Given the description of an element on the screen output the (x, y) to click on. 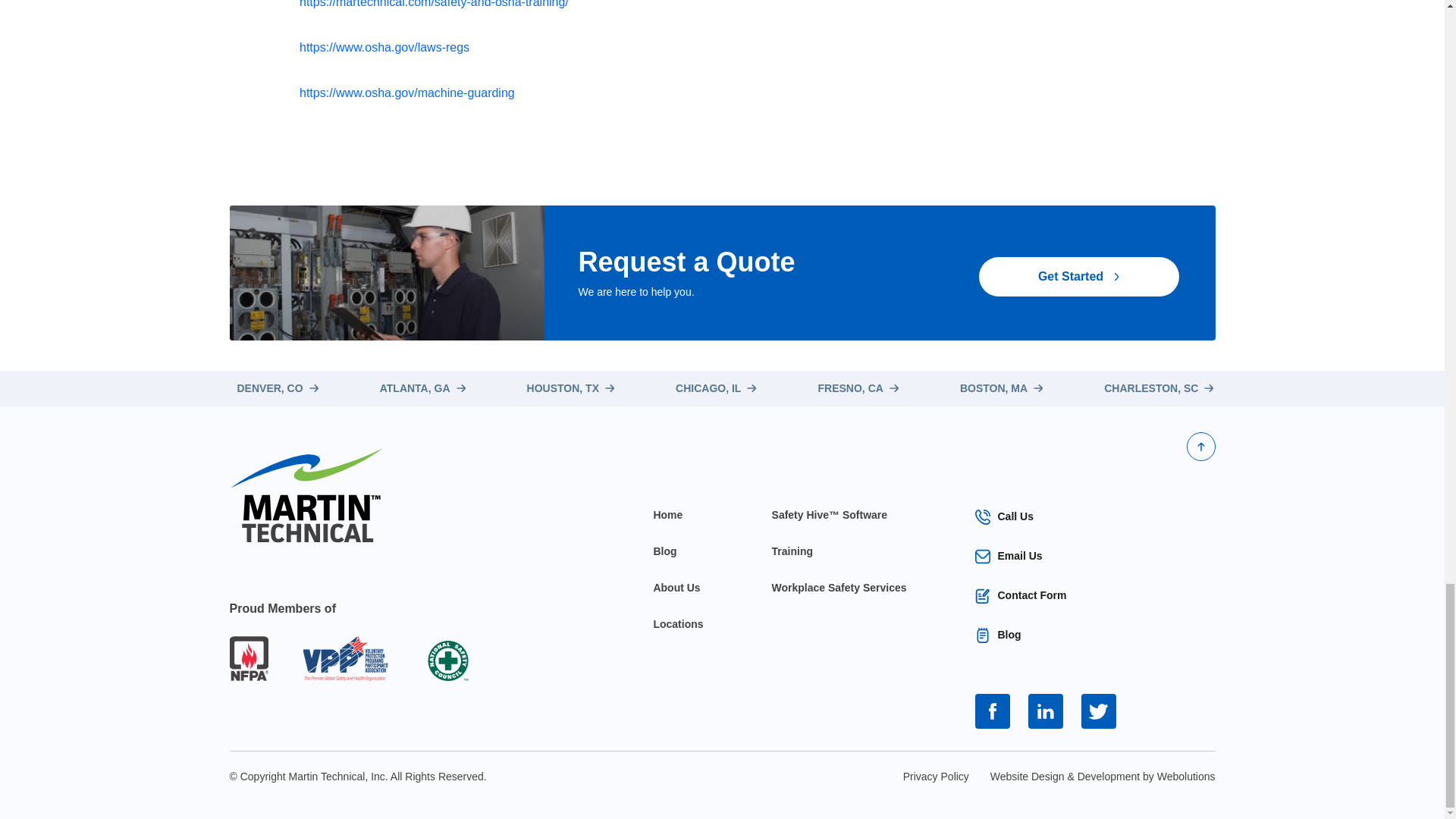
Martin Technical (305, 494)
